Given the description of an element on the screen output the (x, y) to click on. 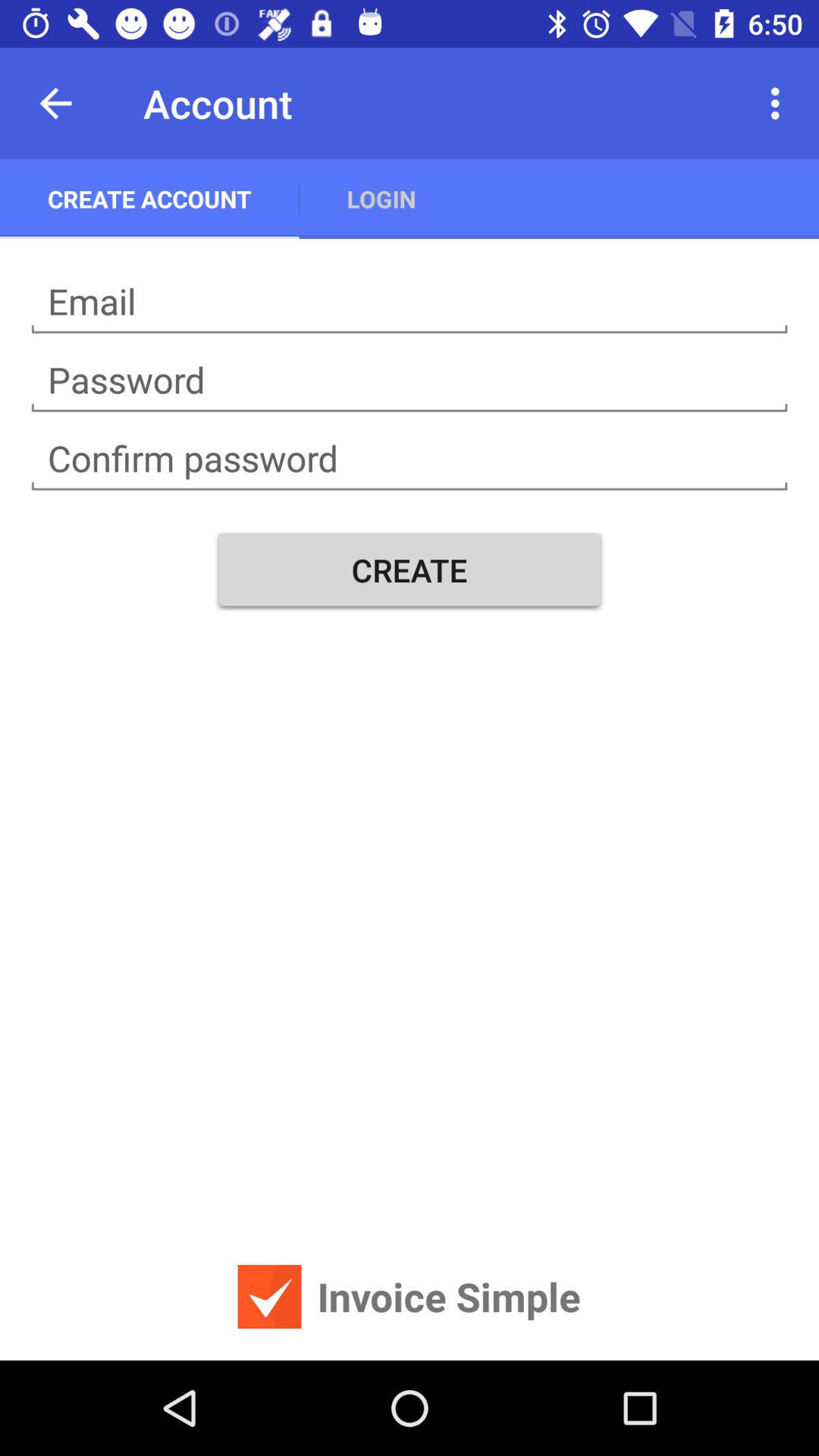
creat (409, 301)
